Given the description of an element on the screen output the (x, y) to click on. 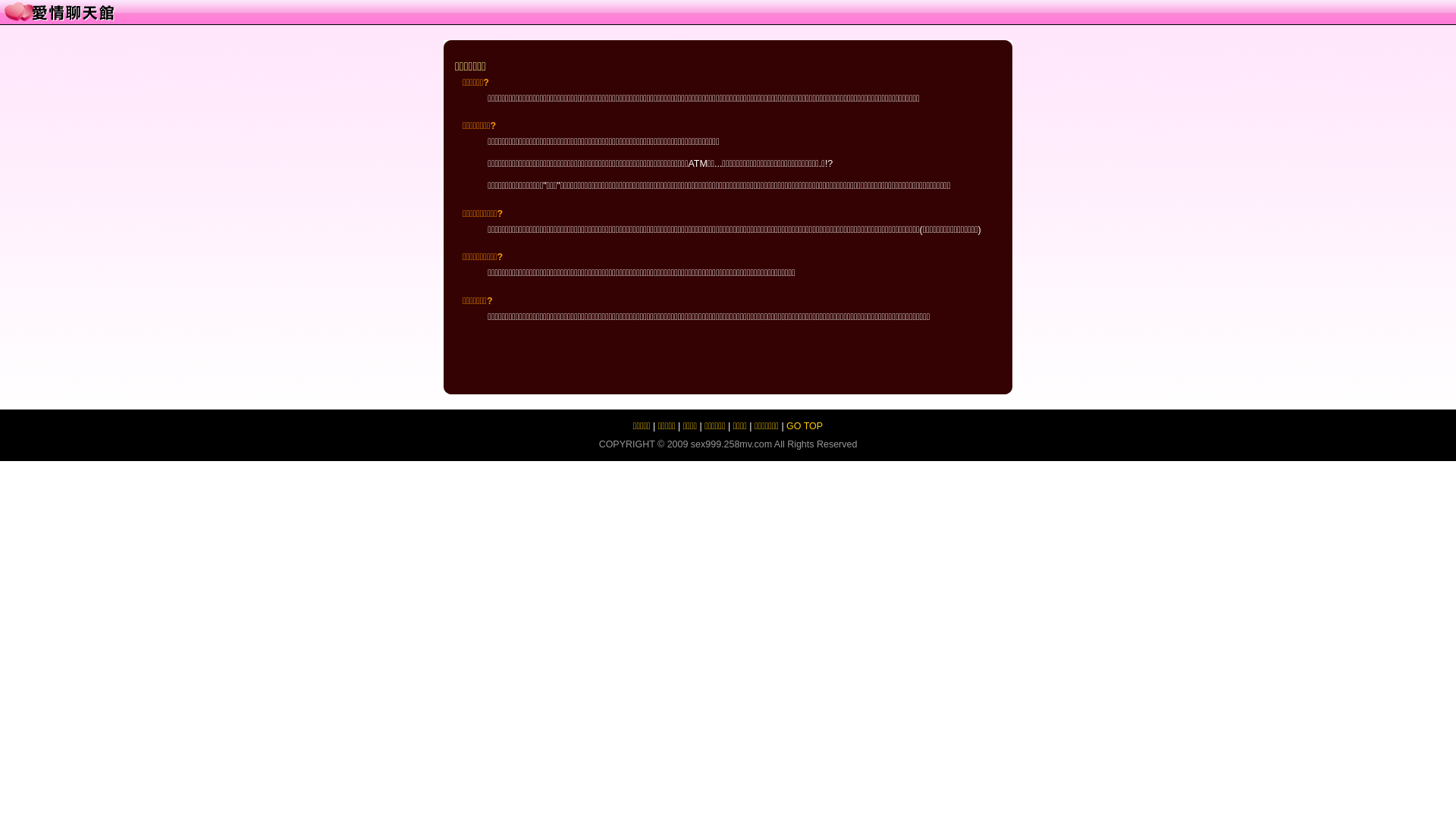
sex999.258mv.com Element type: text (730, 444)
GO TOP Element type: text (804, 425)
